Given the description of an element on the screen output the (x, y) to click on. 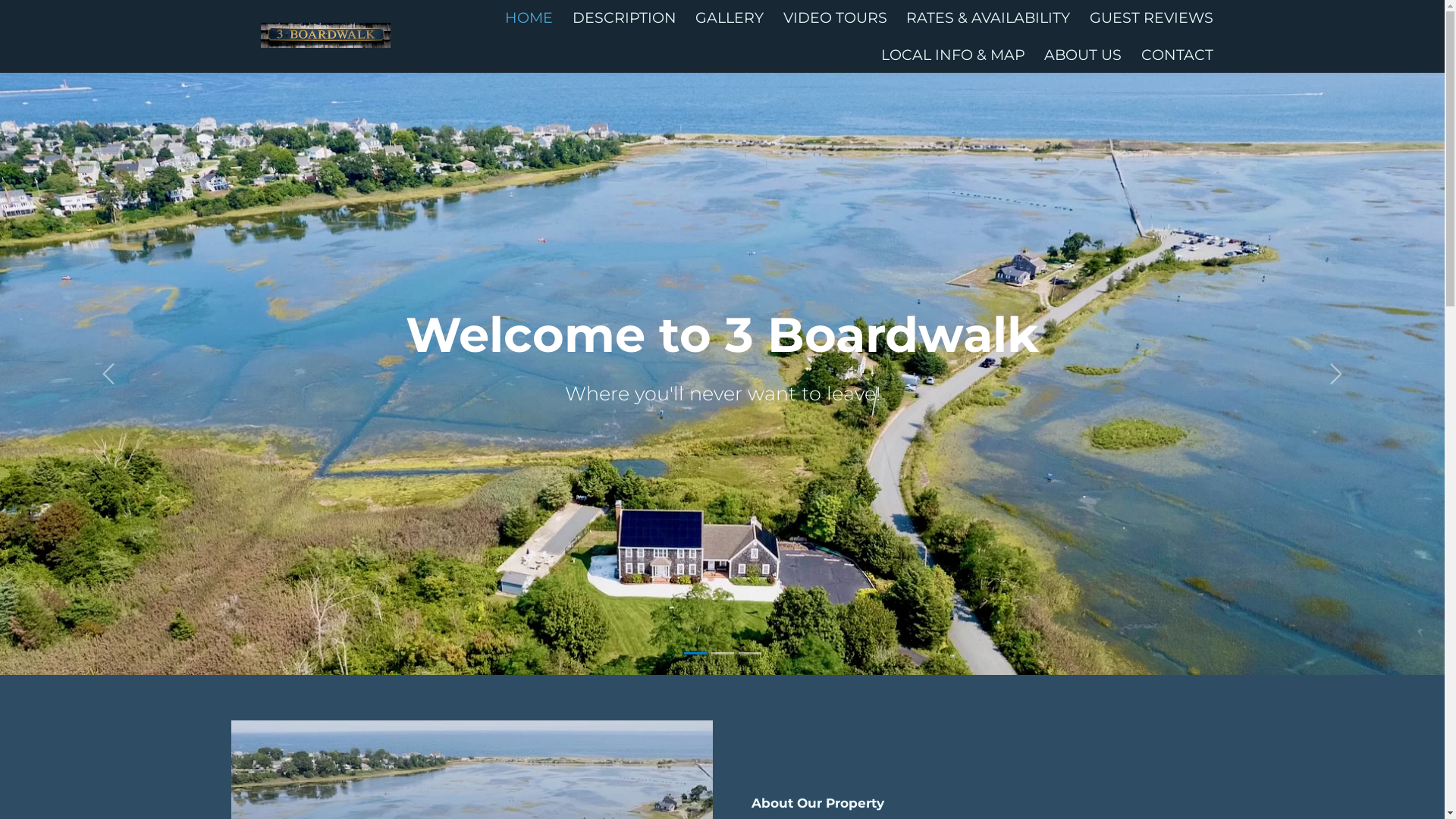
GALLERY Element type: text (729, 17)
LOCAL INFO & MAP Element type: text (953, 54)
RATES & AVAILABILITY Element type: text (988, 17)
ABOUT US Element type: text (1082, 54)
HOME Element type: text (528, 17)
DESCRIPTION Element type: text (624, 17)
GUEST REVIEWS Element type: text (1151, 17)
CONTACT Element type: text (1177, 54)
VIDEO TOURS Element type: text (835, 17)
